Given the description of an element on the screen output the (x, y) to click on. 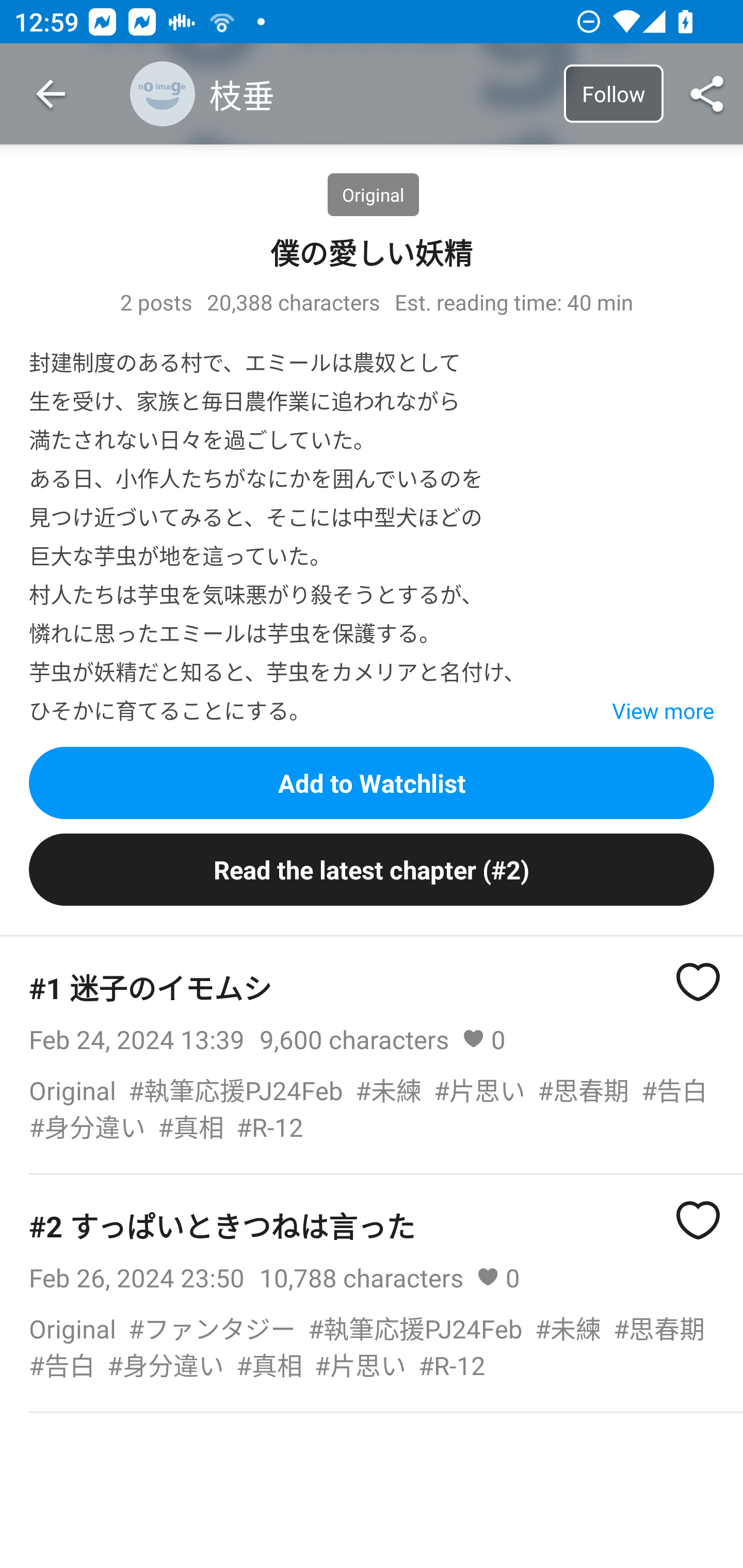
Navigate up (50, 93)
Share (706, 93)
枝垂 (343, 94)
Follow (613, 93)
View more
View more (626, 710)
Add to Watchlist (371, 782)
Read the latest chapter (#2) (371, 870)
